Given the description of an element on the screen output the (x, y) to click on. 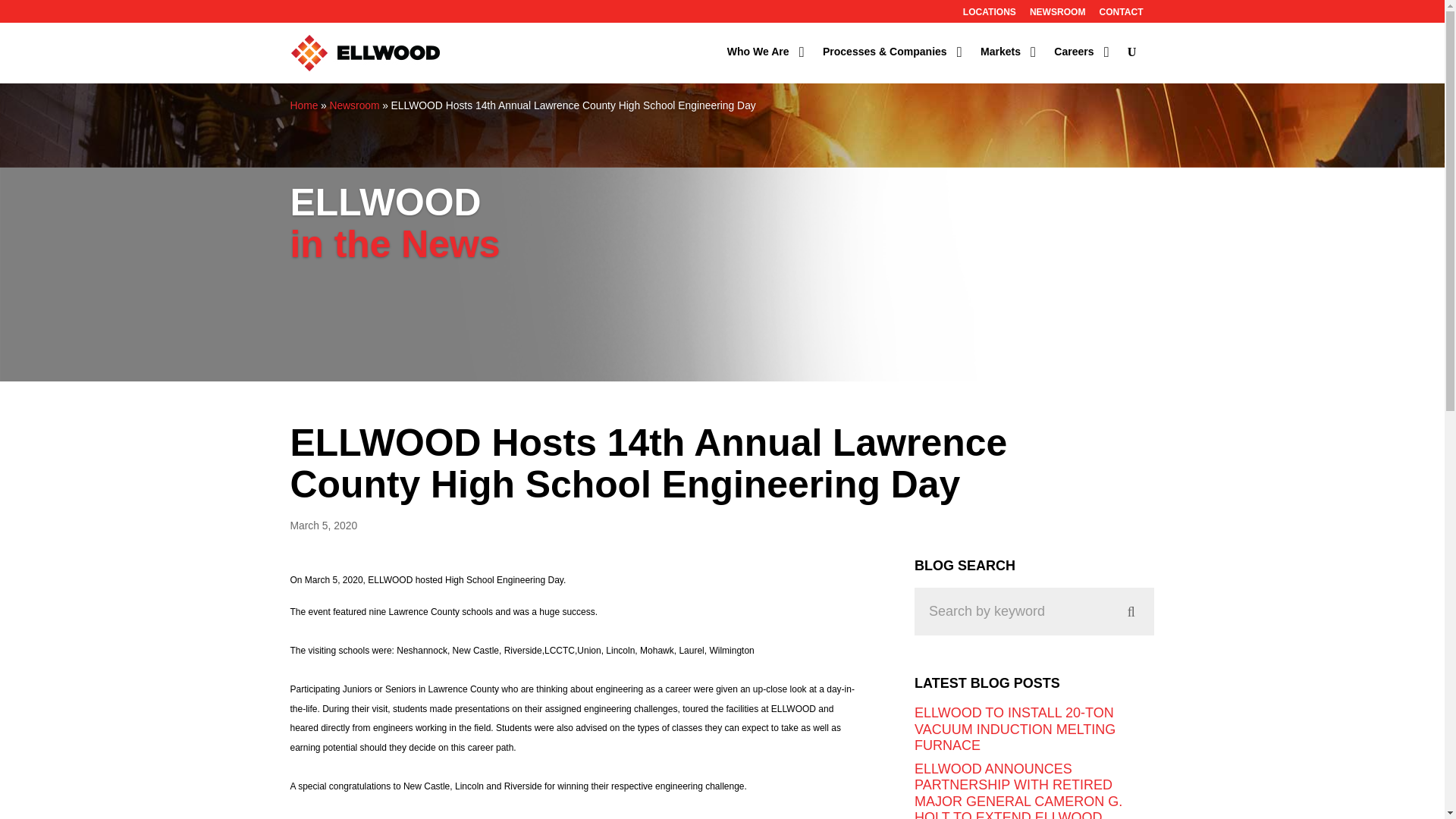
Search (1034, 611)
ELLWOOD (364, 53)
Who We Are (765, 63)
